Given the description of an element on the screen output the (x, y) to click on. 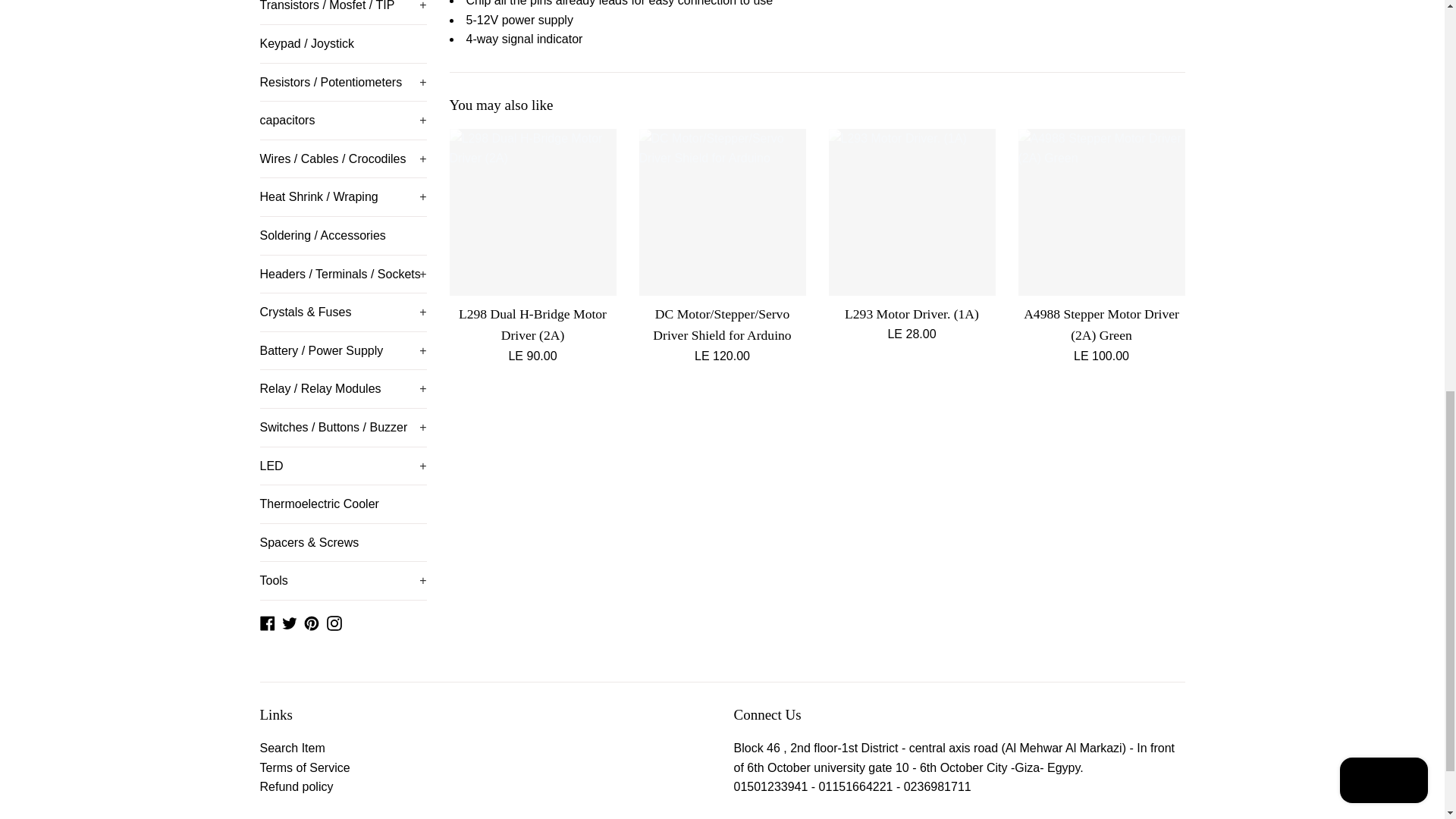
Circuits electronics on Facebook (267, 621)
Circuits electronics on Twitter (289, 621)
Circuits electronics on Pinterest (311, 621)
Circuits electronics on Instagram (334, 621)
